Given the description of an element on the screen output the (x, y) to click on. 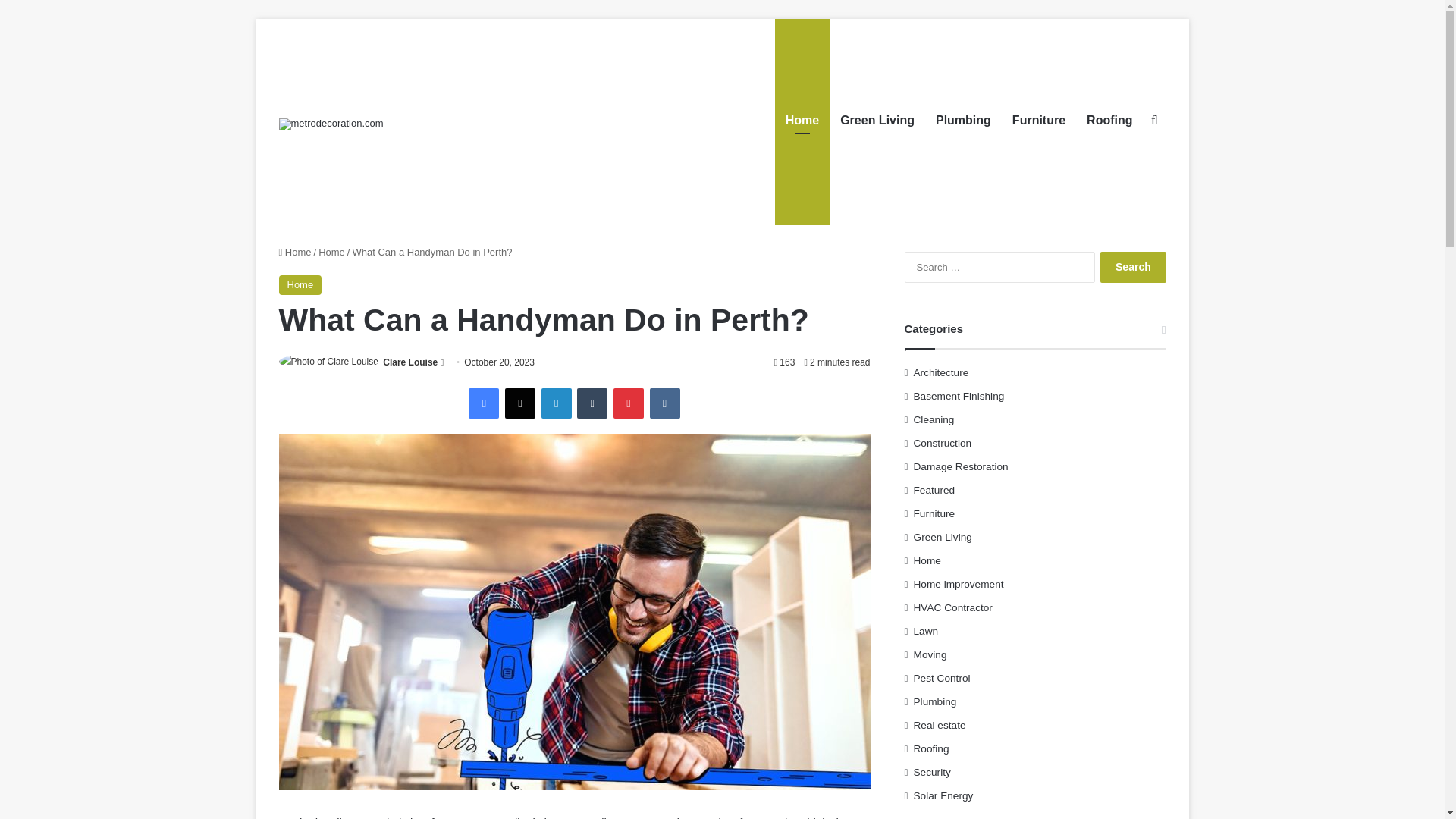
Search for (1154, 119)
Facebook (483, 403)
Pinterest (627, 403)
Search (1133, 266)
Furniture (1038, 119)
VKontakte (664, 403)
Pinterest (627, 403)
Clare Louise (410, 362)
Home (331, 251)
Home (300, 284)
Tumblr (591, 403)
Facebook (483, 403)
X (520, 403)
Search (1133, 266)
